Given the description of an element on the screen output the (x, y) to click on. 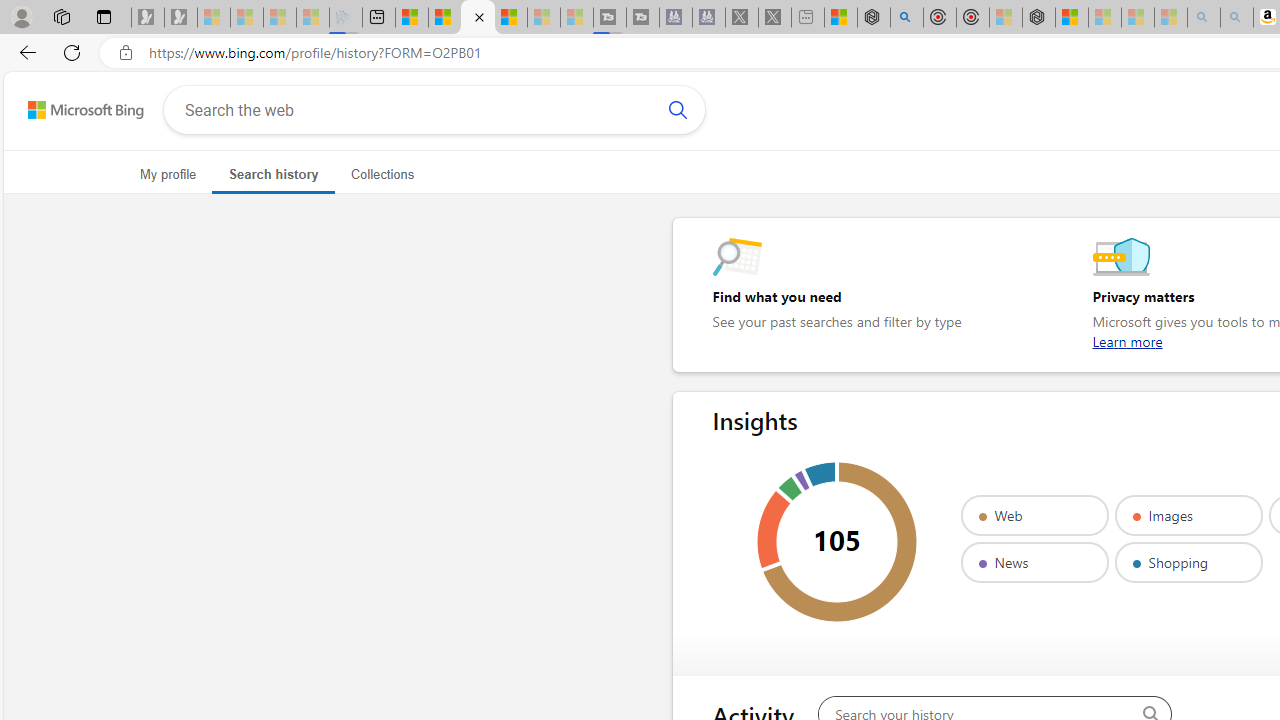
Class: el_arc partner-shopping (819, 475)
Amazon Echo Dot PNG - Search Images - Sleeping (1237, 17)
Search - Search History (478, 17)
Search button (677, 110)
